Given the description of an element on the screen output the (x, y) to click on. 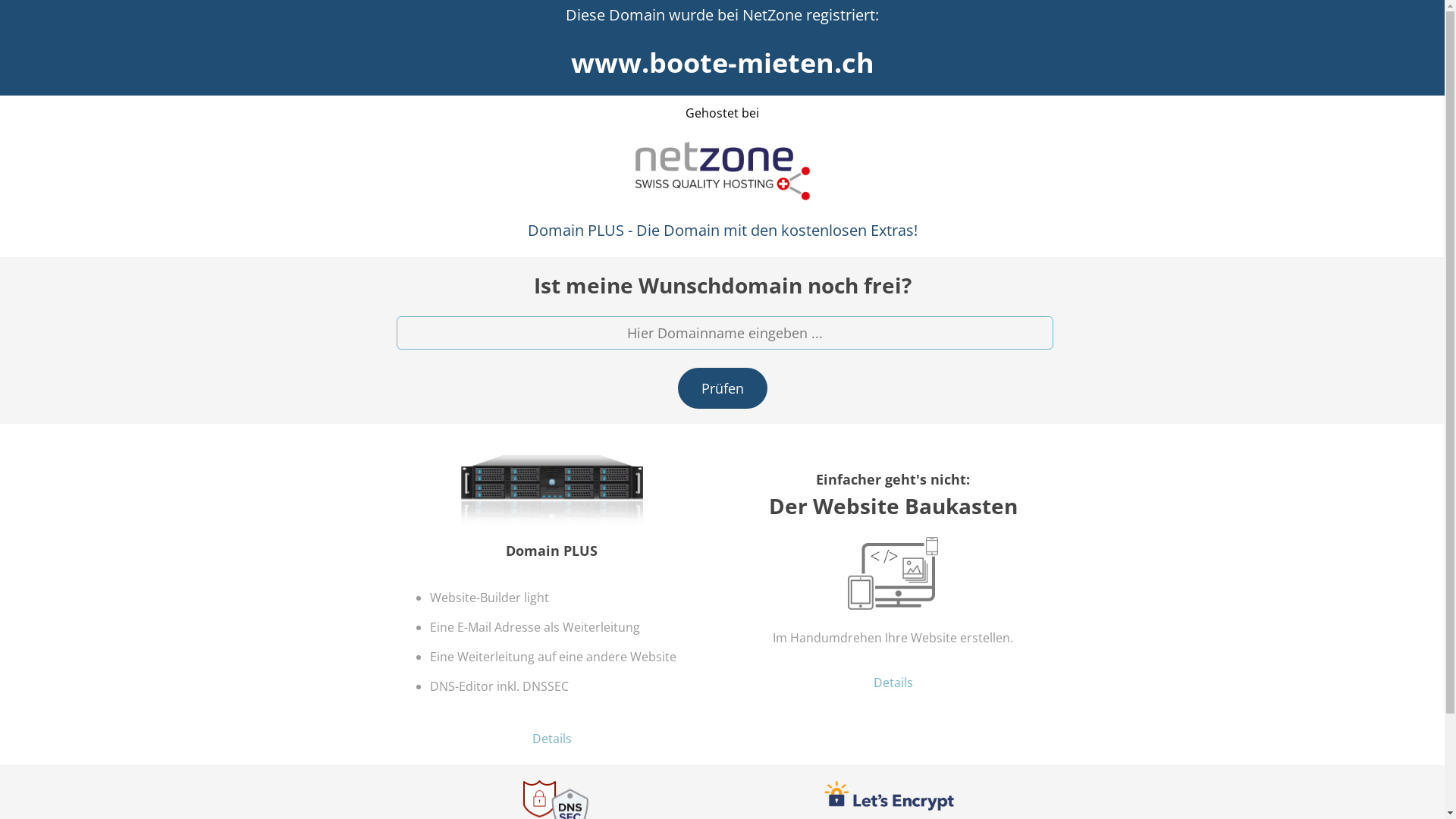
Details Element type: text (551, 738)
Details Element type: text (893, 682)
NetZone AG Element type: hover (721, 170)
LetsEncrypt Element type: hover (888, 795)
Domain PLUS Element type: hover (552, 498)
